Given the description of an element on the screen output the (x, y) to click on. 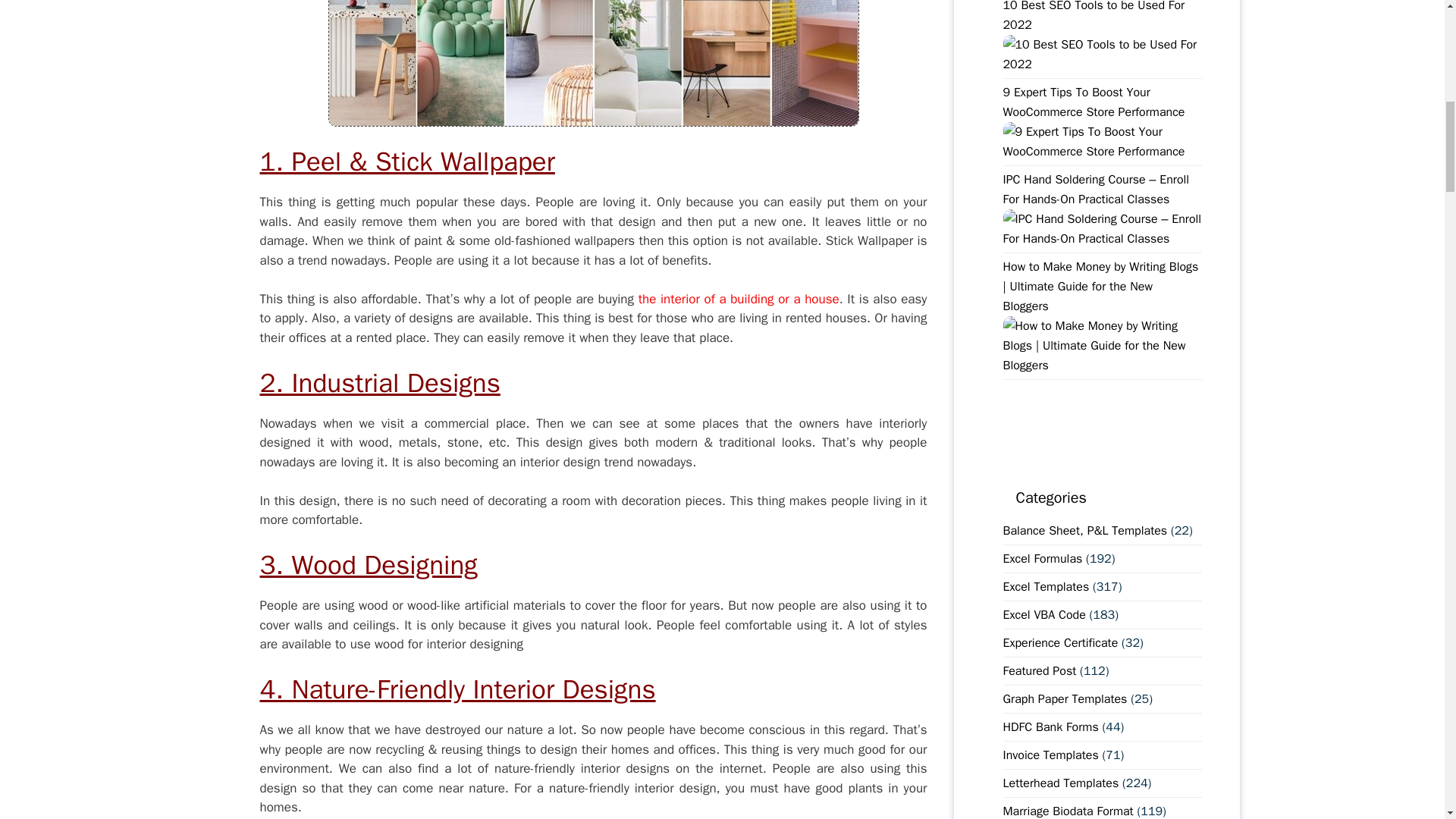
10 Best SEO Tools to be Used For 2022 (1102, 64)
Scroll back to top (1406, 720)
9 Expert Tips To Boost Your WooCommerce Store Performance (1102, 151)
the interior of a building or a house (739, 299)
